Given the description of an element on the screen output the (x, y) to click on. 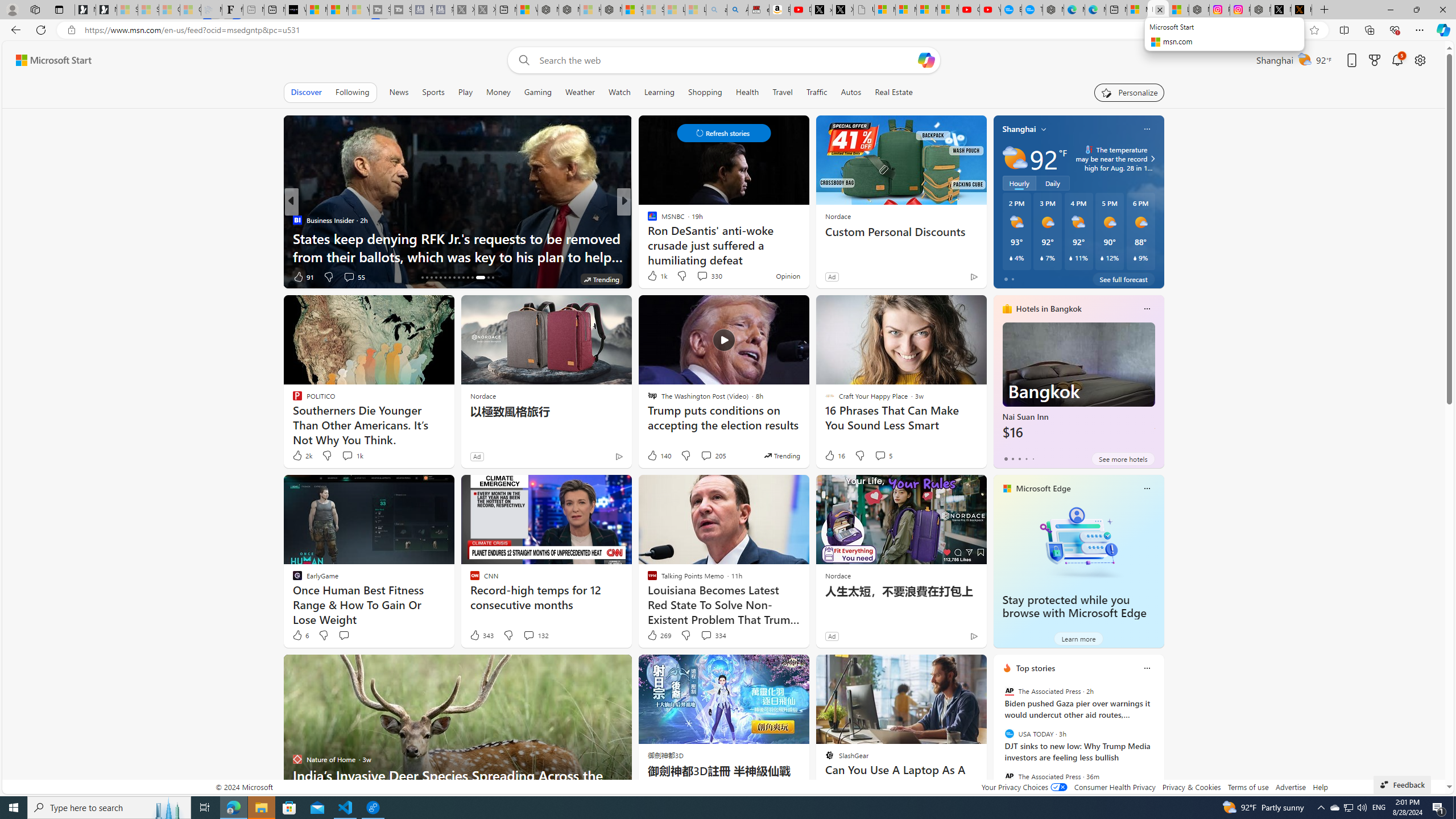
AutomationID: tab-27 (472, 277)
The most popular Google 'how to' searches (1032, 9)
181 Like (654, 276)
Partly sunny (1014, 158)
Gloom - YouTube (968, 9)
Play (465, 92)
Autos (850, 92)
2k Like (301, 455)
